Given the description of an element on the screen output the (x, y) to click on. 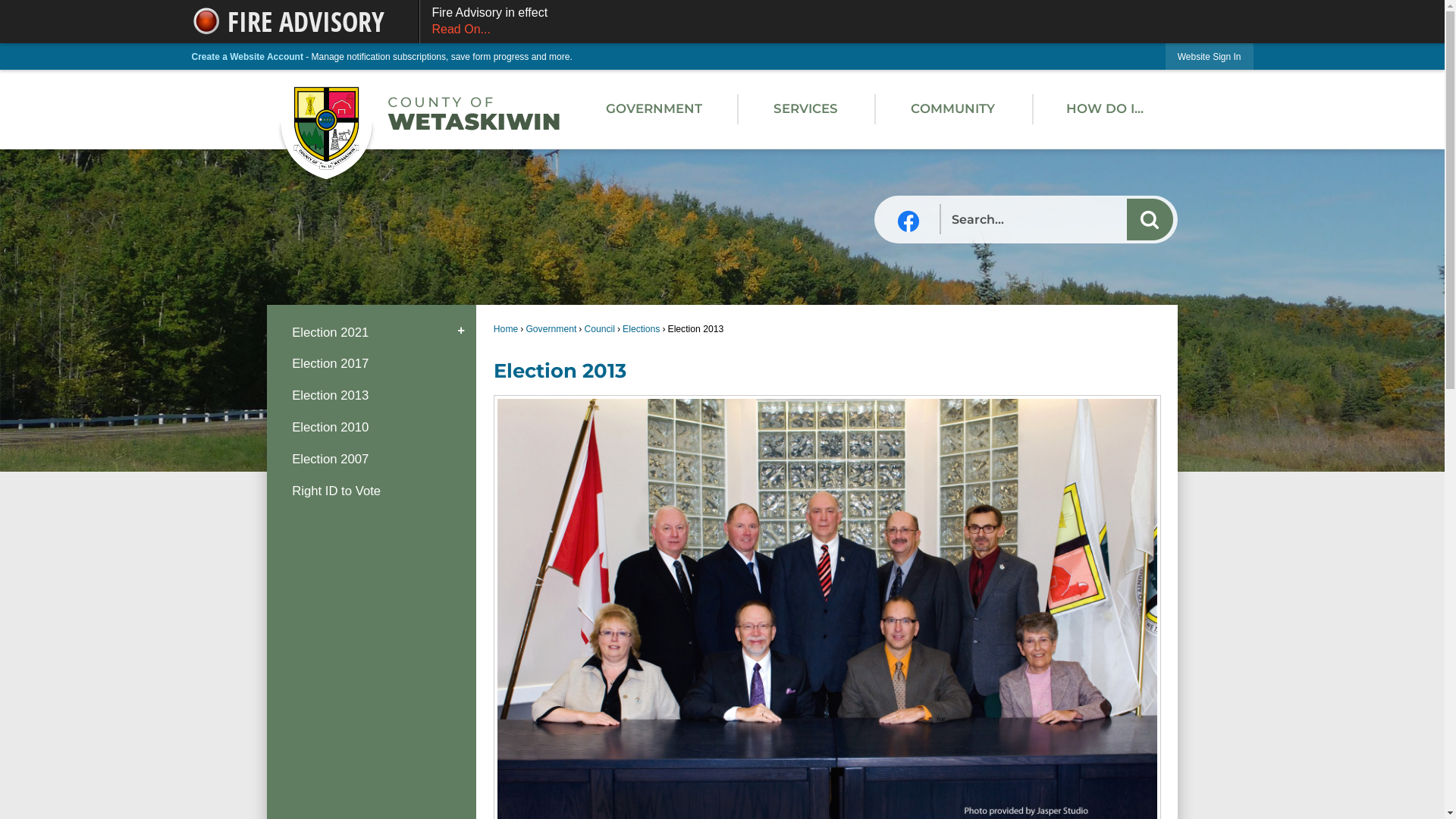
SERVICES Element type: text (805, 108)
Government Element type: text (550, 328)
Website Sign In Element type: text (1209, 56)
Election 2007 Element type: text (371, 458)
Expand Election 2021 Submenu Element type: hover (460, 332)
Search... Element type: hover (1056, 219)
  Element type: text (908, 220)
Elections Element type: text (640, 328)
Create a Website Account Element type: text (246, 56)
FIRE ADVISORY Element type: text (304, 21)
GOVERNMENT Element type: text (653, 108)
Home Element type: text (505, 328)
COMMUNITY Element type: text (953, 108)
Skip to Main Content Element type: text (6, 6)
Council Element type: text (599, 328)
Fire Advisory in effect
Read On... Element type: text (835, 21)
HOW DO I... Element type: text (1105, 108)
Right ID to Vote Element type: text (371, 490)
Election 2013 Element type: text (371, 395)
Election 2021 Element type: text (371, 332)
Election 2010 Element type: text (371, 427)
Election 2017 Element type: text (371, 363)
